Given the description of an element on the screen output the (x, y) to click on. 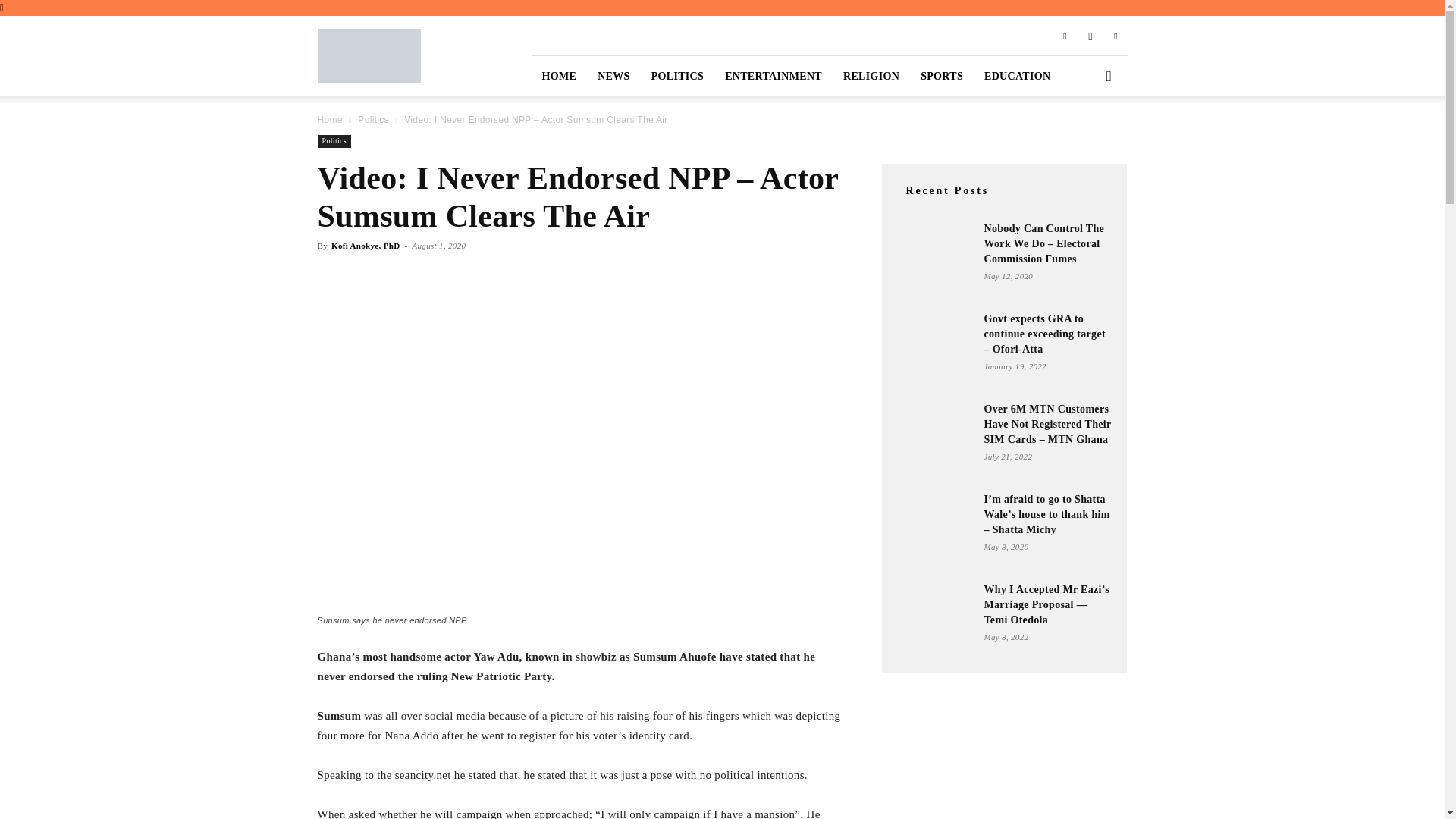
View all posts in Politics (373, 119)
Instagram (1090, 35)
POLITICS (677, 76)
ENTERTAINMENT (773, 76)
EDUCATION (1017, 76)
RELIGION (871, 76)
NEWS (613, 76)
HOME (558, 76)
SPORTS (942, 76)
Twitter (1114, 35)
Facebook (1065, 35)
